Given the description of an element on the screen output the (x, y) to click on. 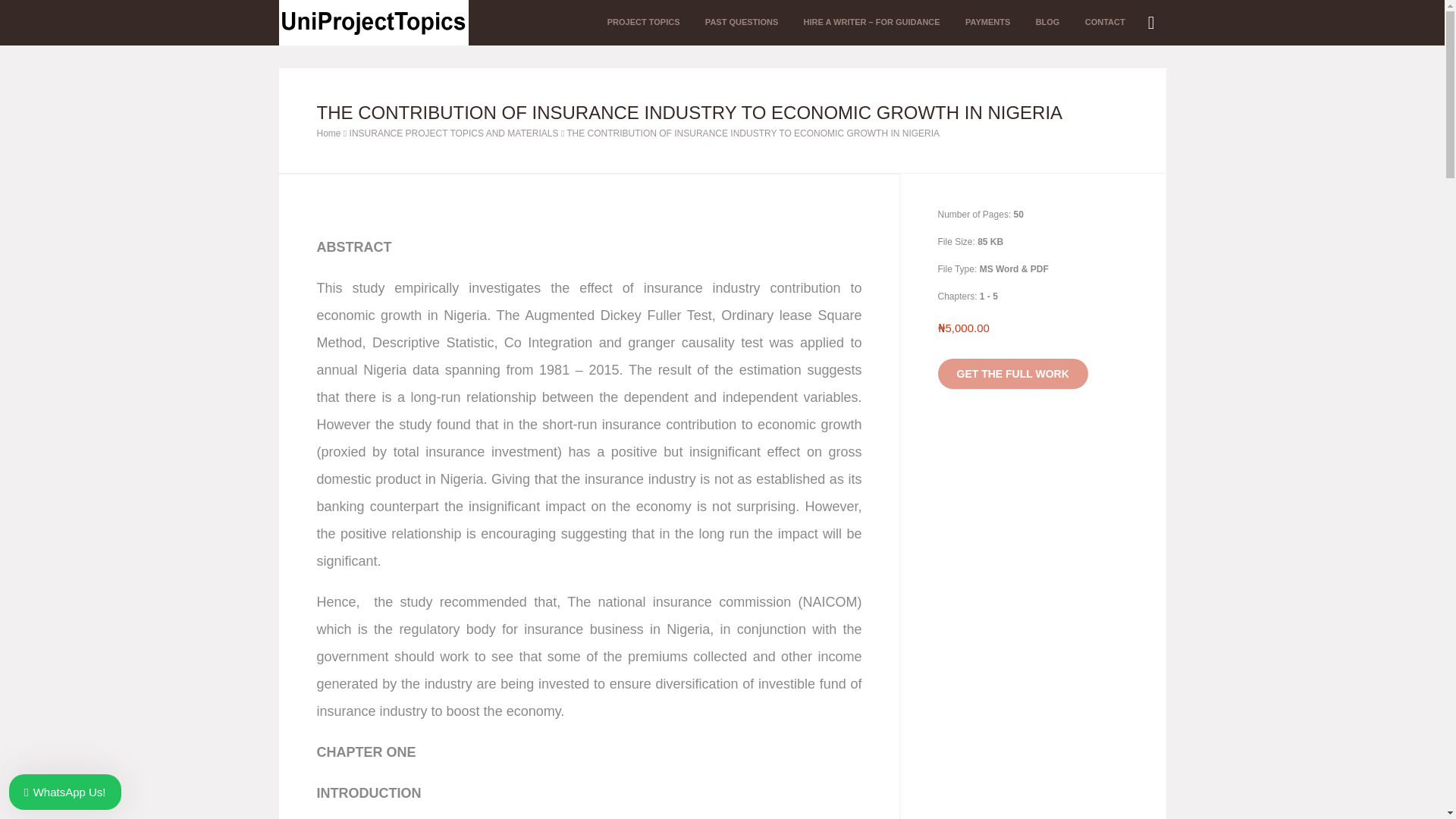
BLOG (1048, 22)
PAYMENTS (987, 22)
CONTACT (1105, 22)
PROJECT TOPICS (643, 22)
GET THE FULL WORK (1012, 373)
INSURANCE PROJECT TOPICS AND MATERIALS (454, 132)
PAST QUESTIONS (741, 22)
Home (328, 132)
